Given the description of an element on the screen output the (x, y) to click on. 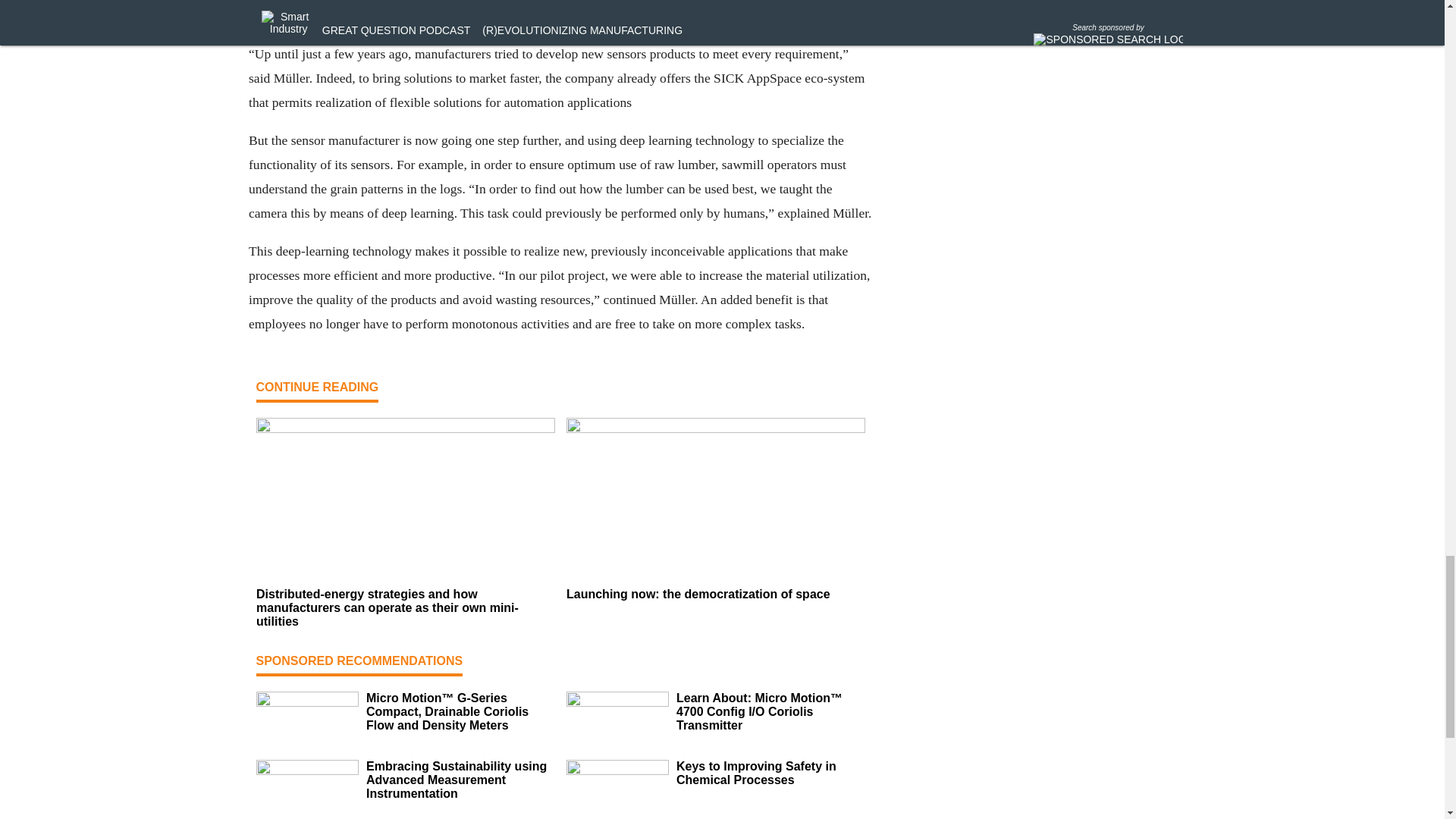
Launching now: the democratization of space (715, 594)
Keys to Improving Safety in Chemical Processes (770, 773)
